Given the description of an element on the screen output the (x, y) to click on. 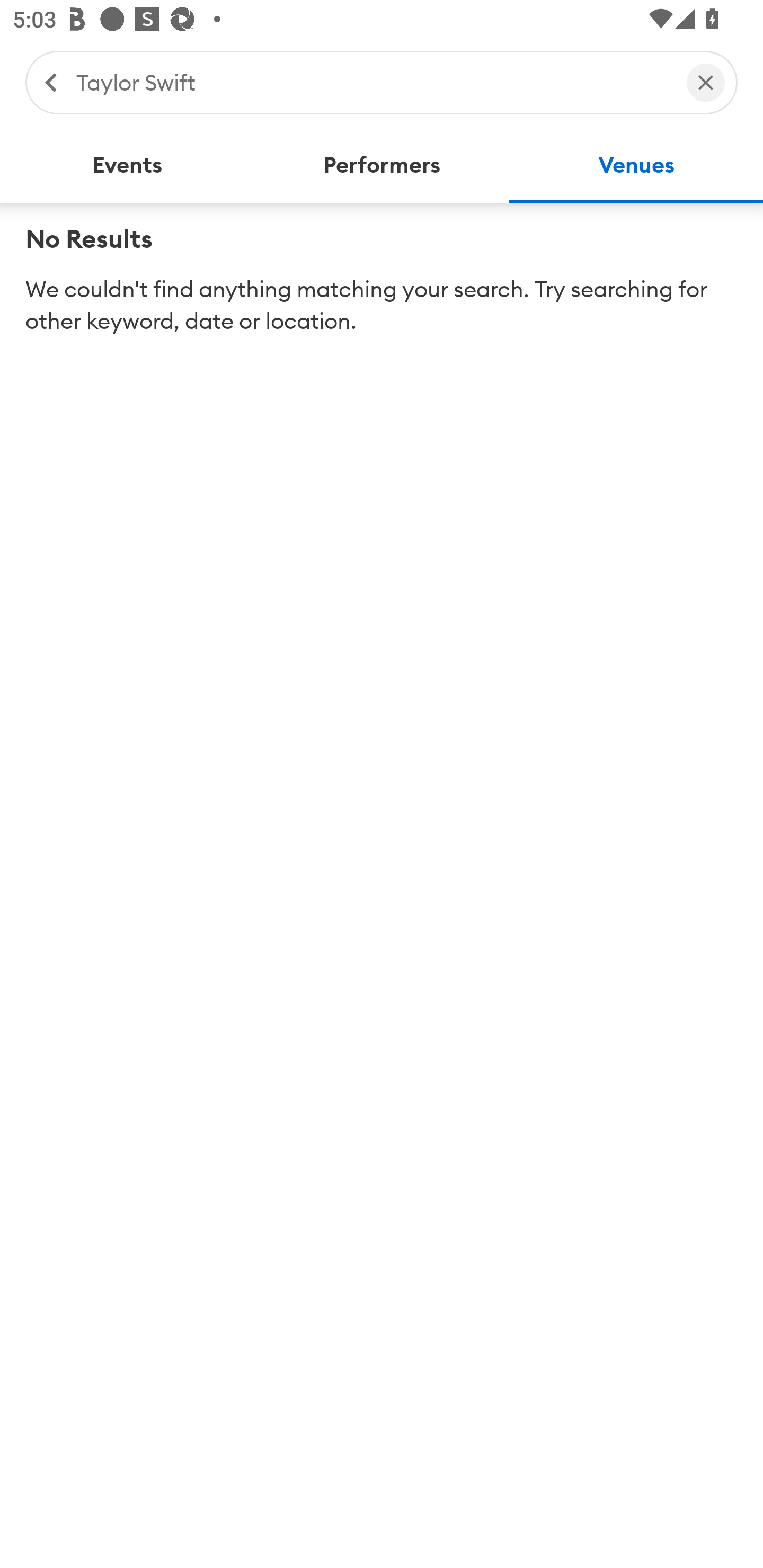
Taylor Swift (371, 81)
Clear Search (705, 81)
Events (127, 165)
Performers (381, 165)
